Given the description of an element on the screen output the (x, y) to click on. 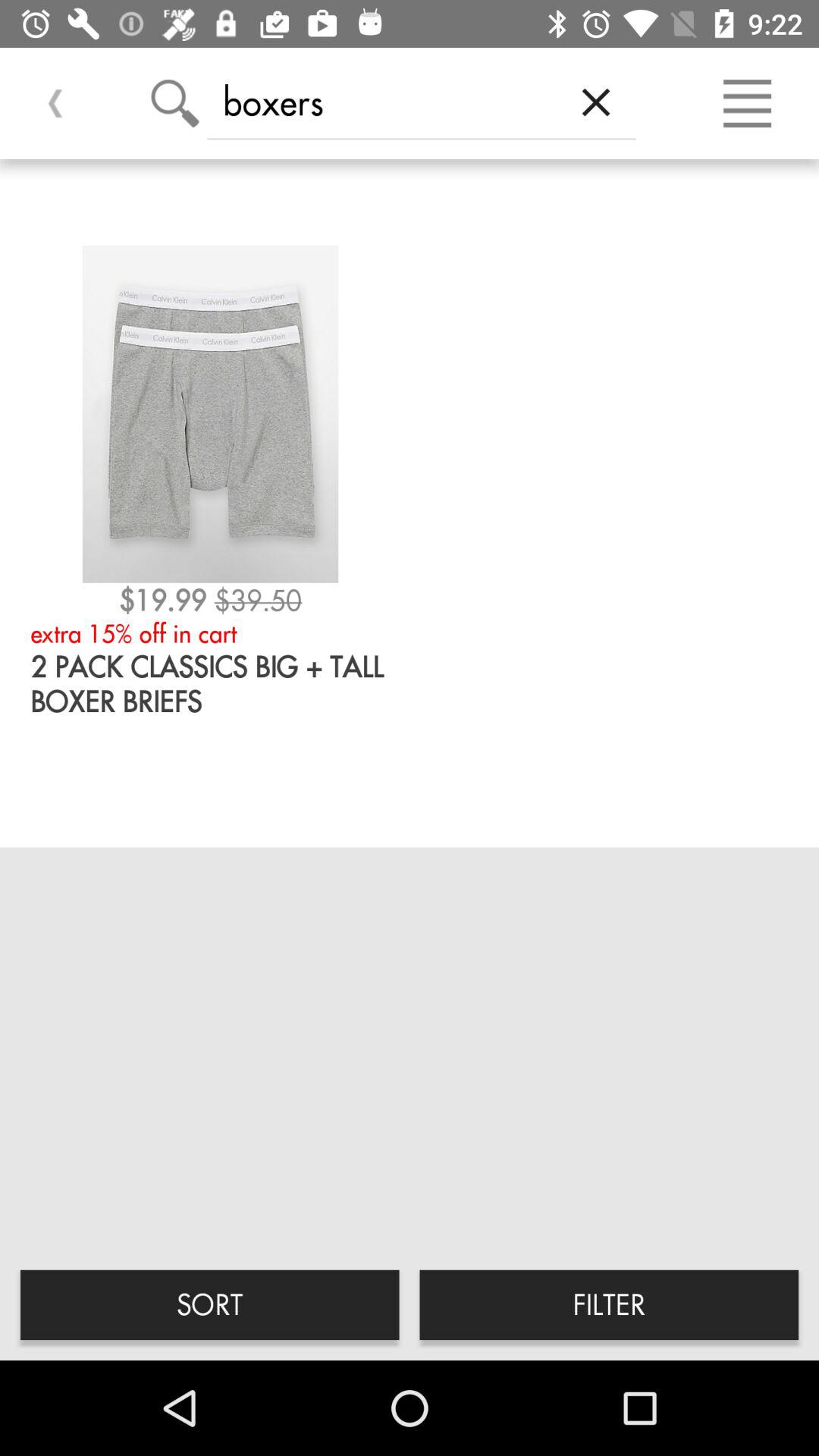
choose the icon below boxers icon (608, 1304)
